Given the description of an element on the screen output the (x, y) to click on. 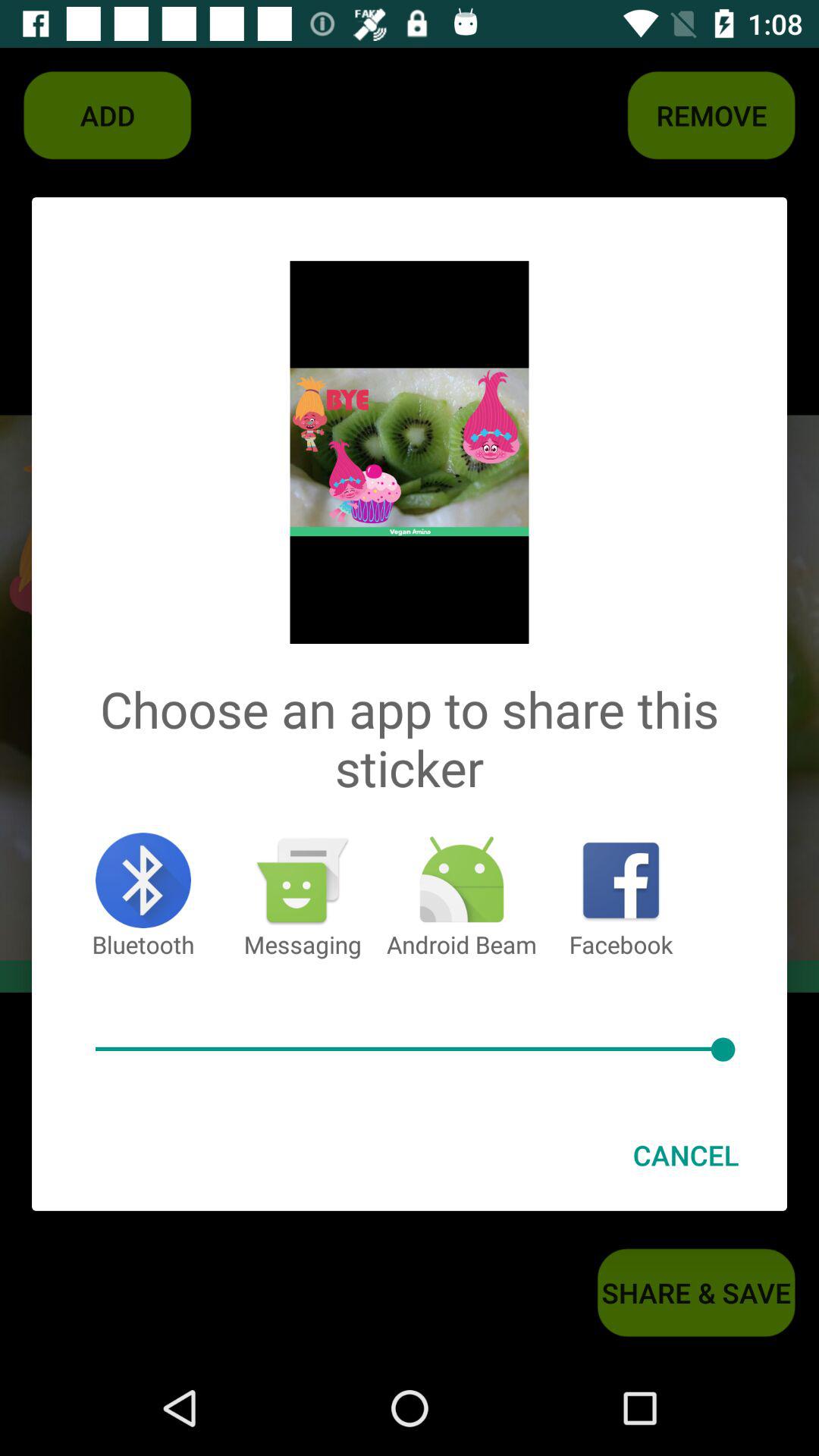
turn on the cancel at the bottom right corner (686, 1154)
